Given the description of an element on the screen output the (x, y) to click on. 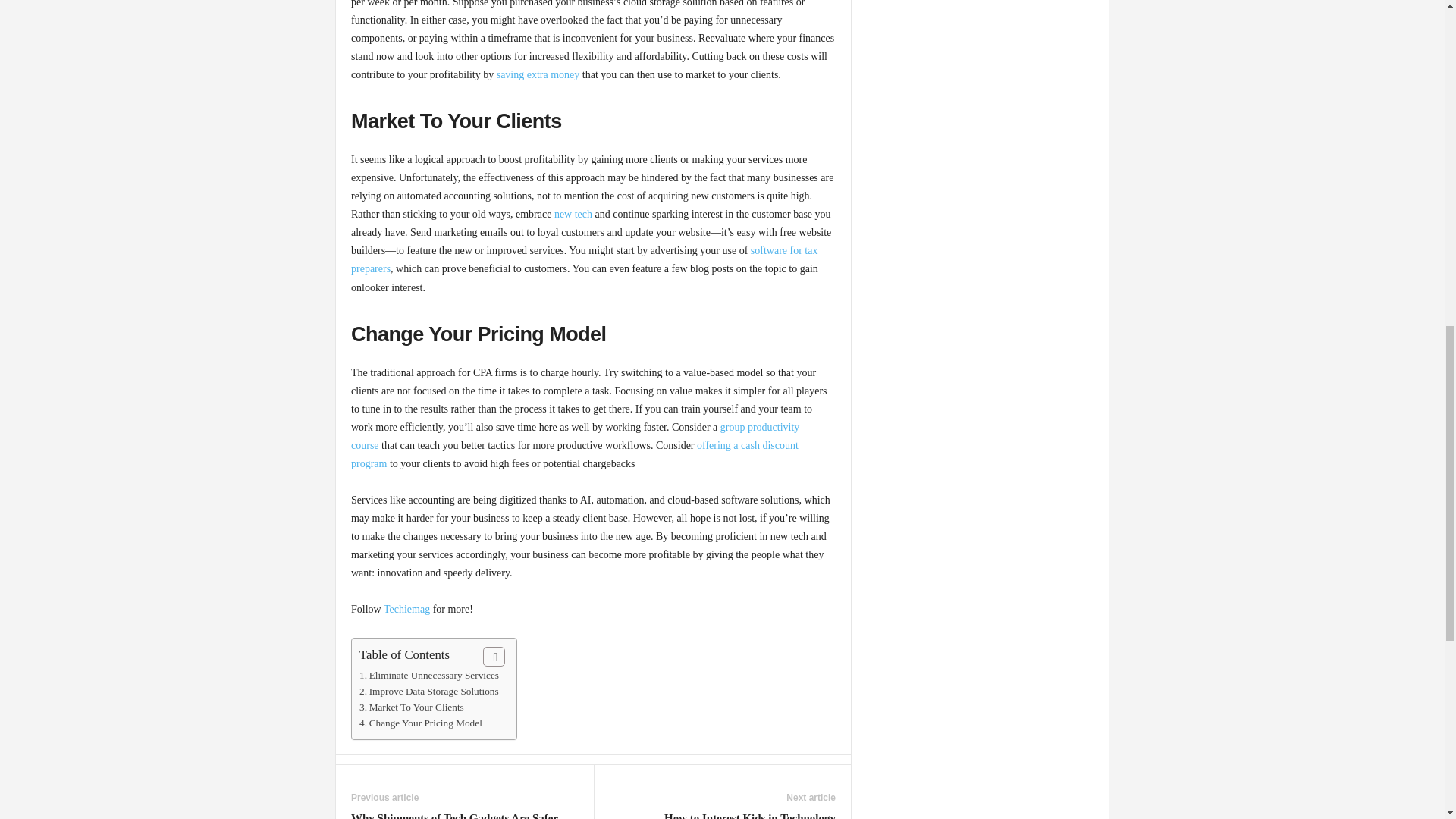
Improve Data Storage Solutions (429, 690)
